Given the description of an element on the screen output the (x, y) to click on. 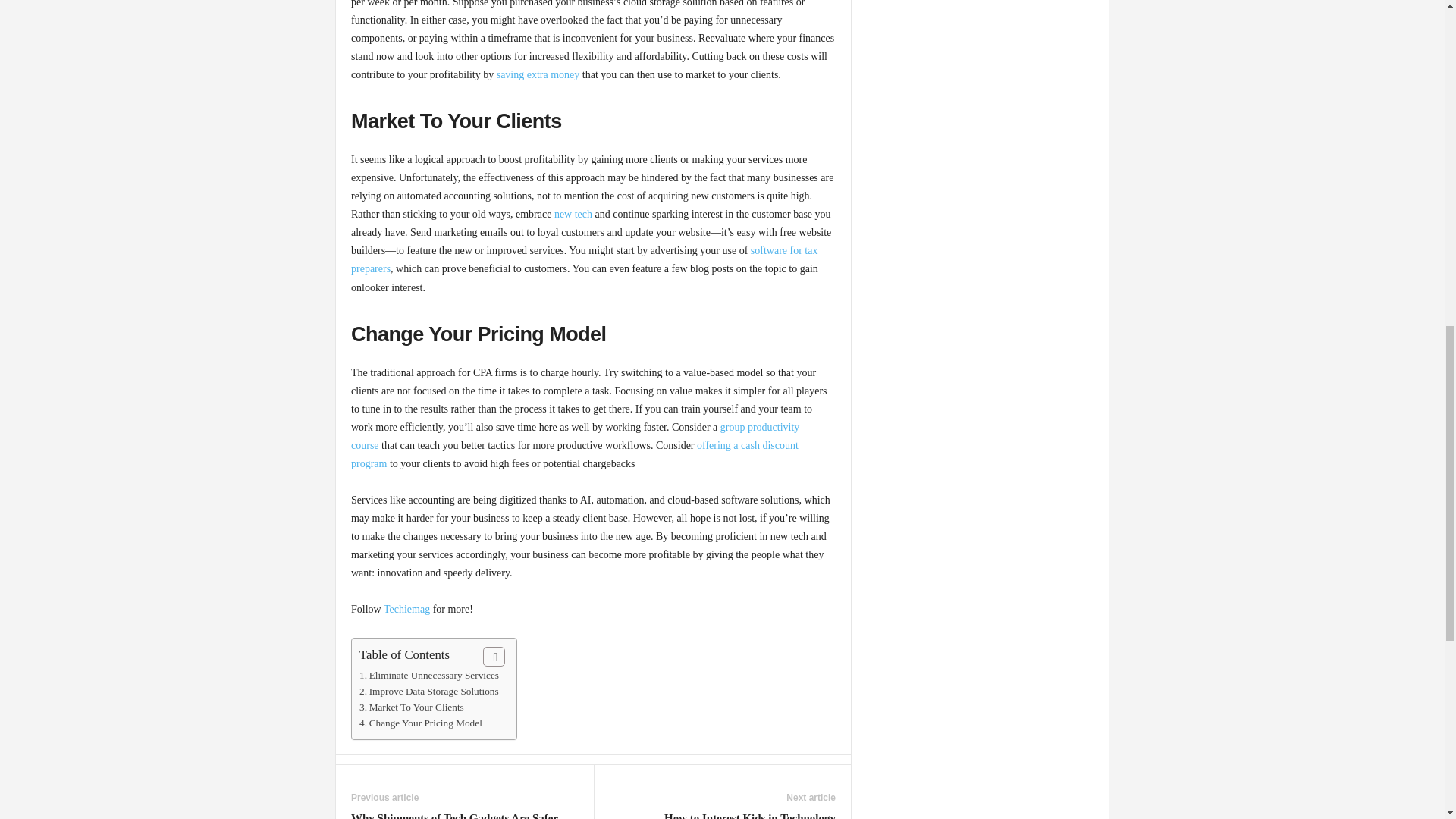
Improve Data Storage Solutions (429, 690)
